Given the description of an element on the screen output the (x, y) to click on. 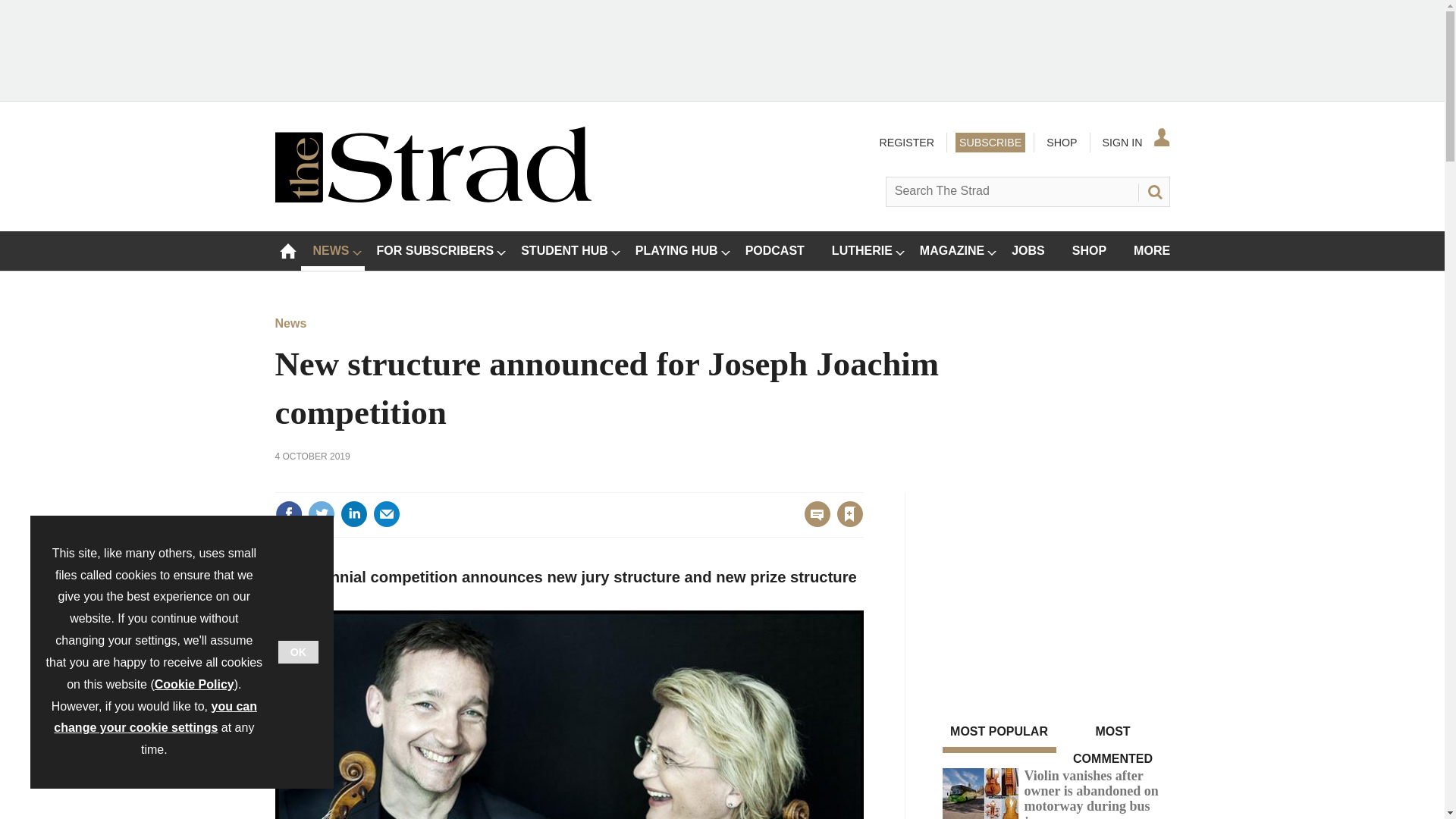
Share this on Facebook (288, 513)
3rd party ad content (1055, 586)
Email this article (386, 513)
SIGN IN (1134, 142)
OK (298, 651)
REGISTER (906, 142)
SEARCH (1153, 191)
3rd party ad content (721, 48)
Share this on Twitter (320, 513)
Cookie Policy (194, 684)
Share this on Linked in (352, 513)
SHOP (1061, 142)
No comments (812, 522)
you can change your cookie settings (155, 717)
Insert Logo text (433, 197)
